Given the description of an element on the screen output the (x, y) to click on. 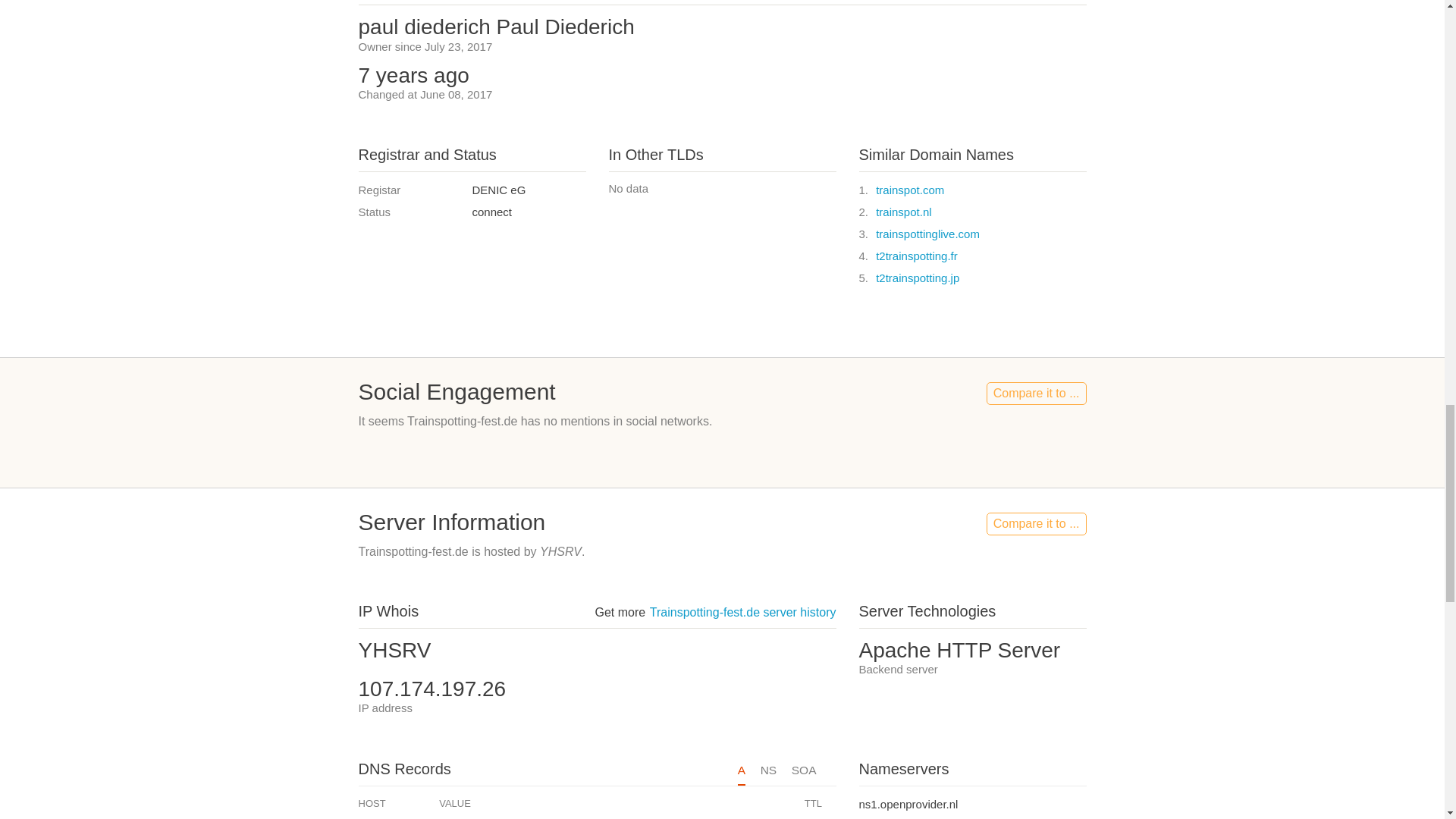
Trainspotting-fest.de server history (742, 612)
SOA (804, 774)
Compare it to ... (1036, 393)
trainspottinglive.com (927, 233)
trainspot.com (909, 189)
Compare it to ... (1036, 523)
t2trainspotting.jp (917, 277)
trainspot.nl (903, 211)
t2trainspotting.fr (917, 255)
